Given the description of an element on the screen output the (x, y) to click on. 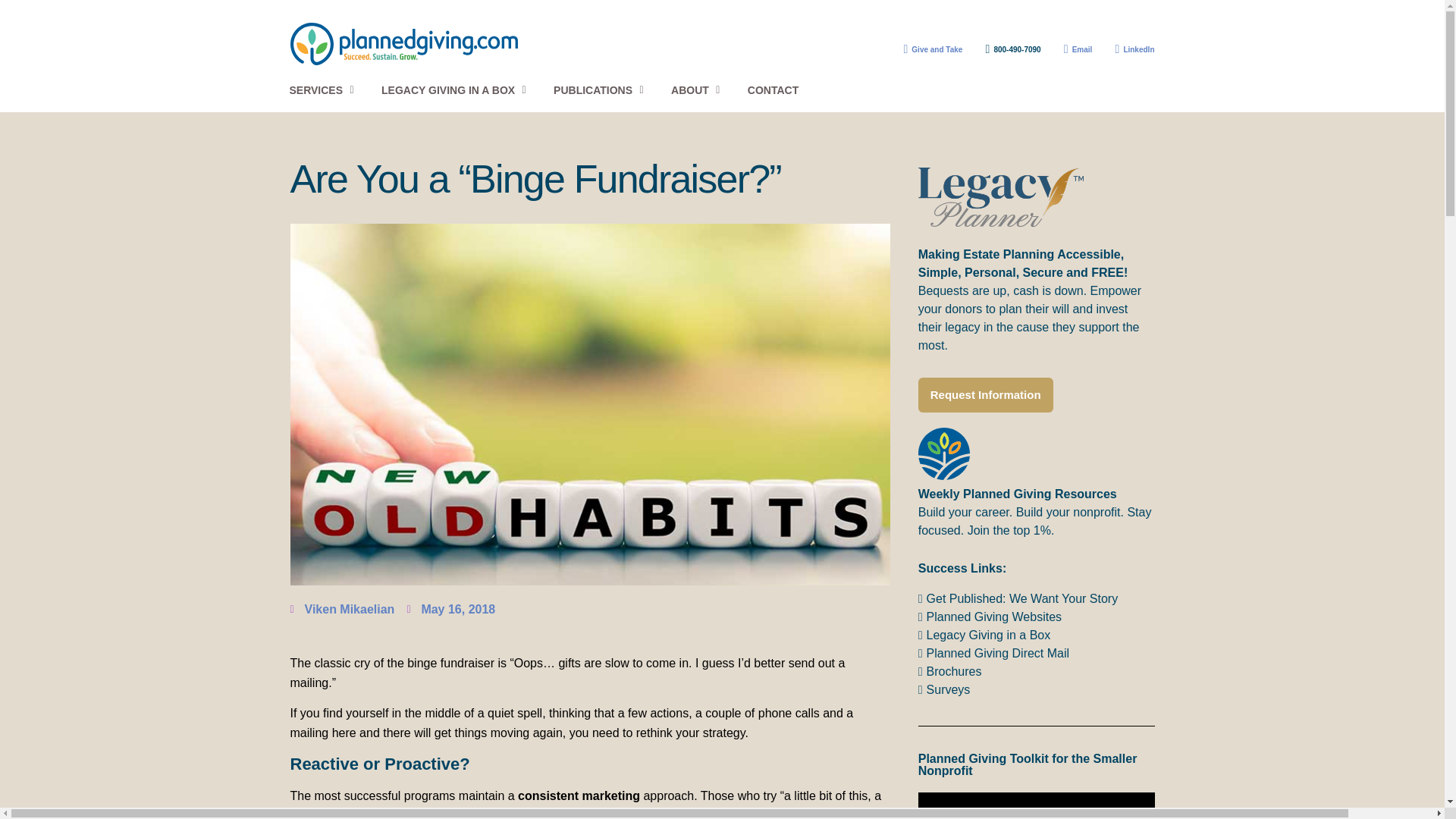
vimeo Video Player (1036, 805)
LinkedIn (1128, 49)
Give and Take (927, 49)
Email (1072, 49)
